Given the description of an element on the screen output the (x, y) to click on. 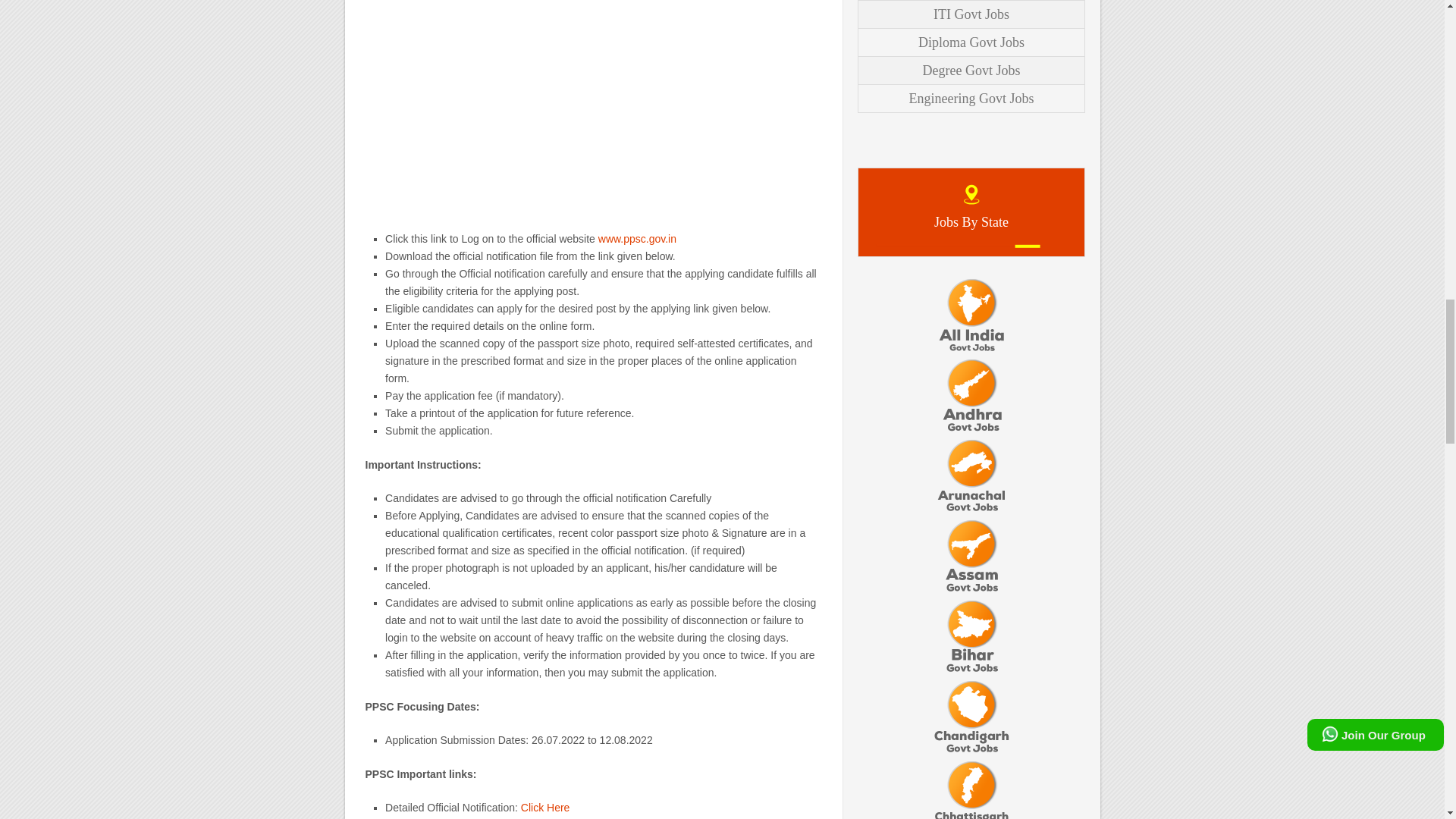
www.ppsc.gov.in (637, 238)
Click Here (545, 807)
Advertisement (593, 108)
